Given the description of an element on the screen output the (x, y) to click on. 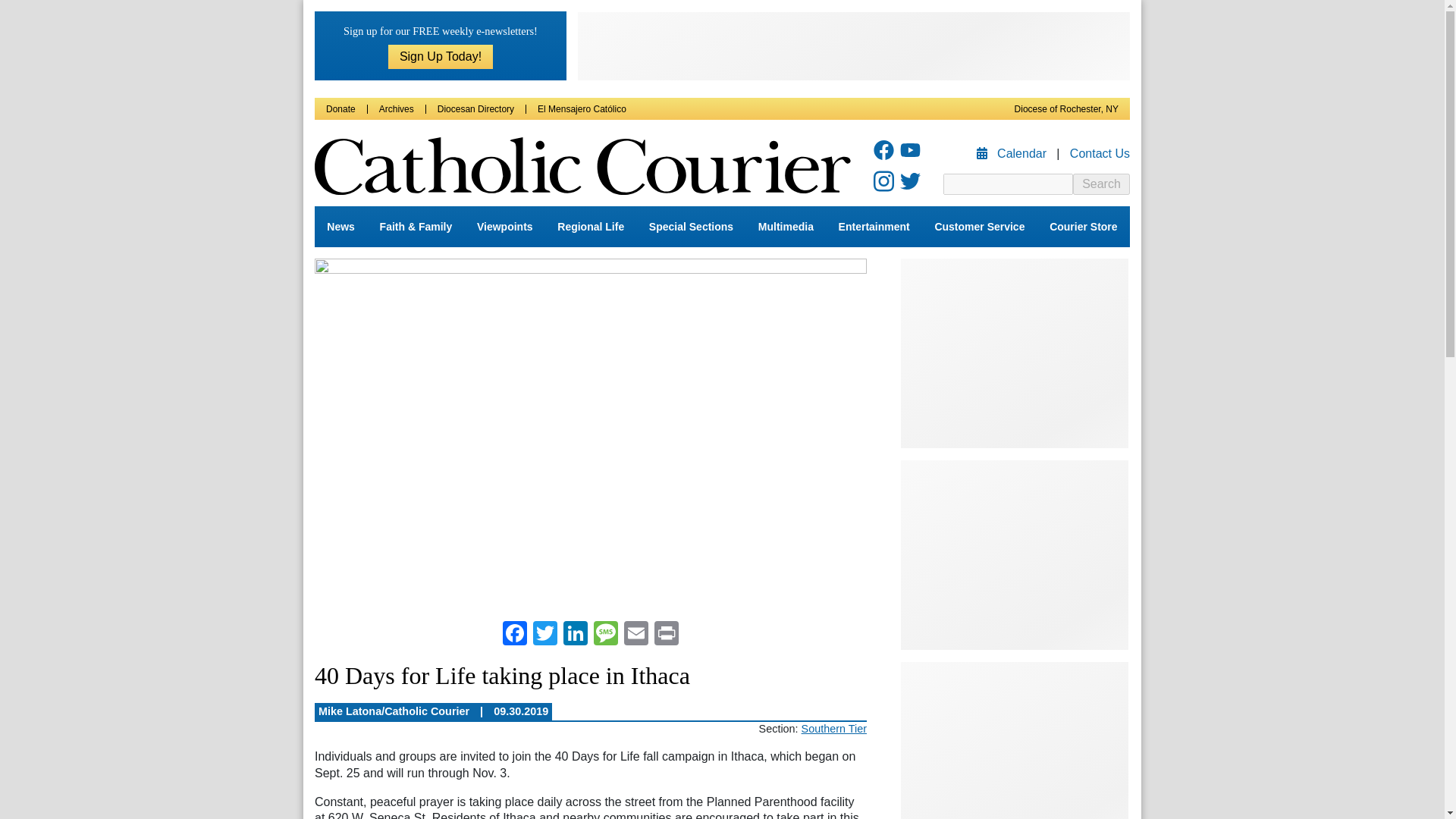
40 Days for Life taking place in Ithaca (590, 432)
LinkedIn (575, 634)
Regional Life (590, 226)
Message (606, 634)
Print (665, 634)
Special Sections (691, 226)
Email (635, 634)
  Calendar (1012, 153)
Facebook (514, 634)
Donate (340, 108)
Viewpoints (504, 226)
News (340, 226)
Archives (395, 108)
Search (1101, 183)
Diocese of Rochester, NY (1066, 108)
